Given the description of an element on the screen output the (x, y) to click on. 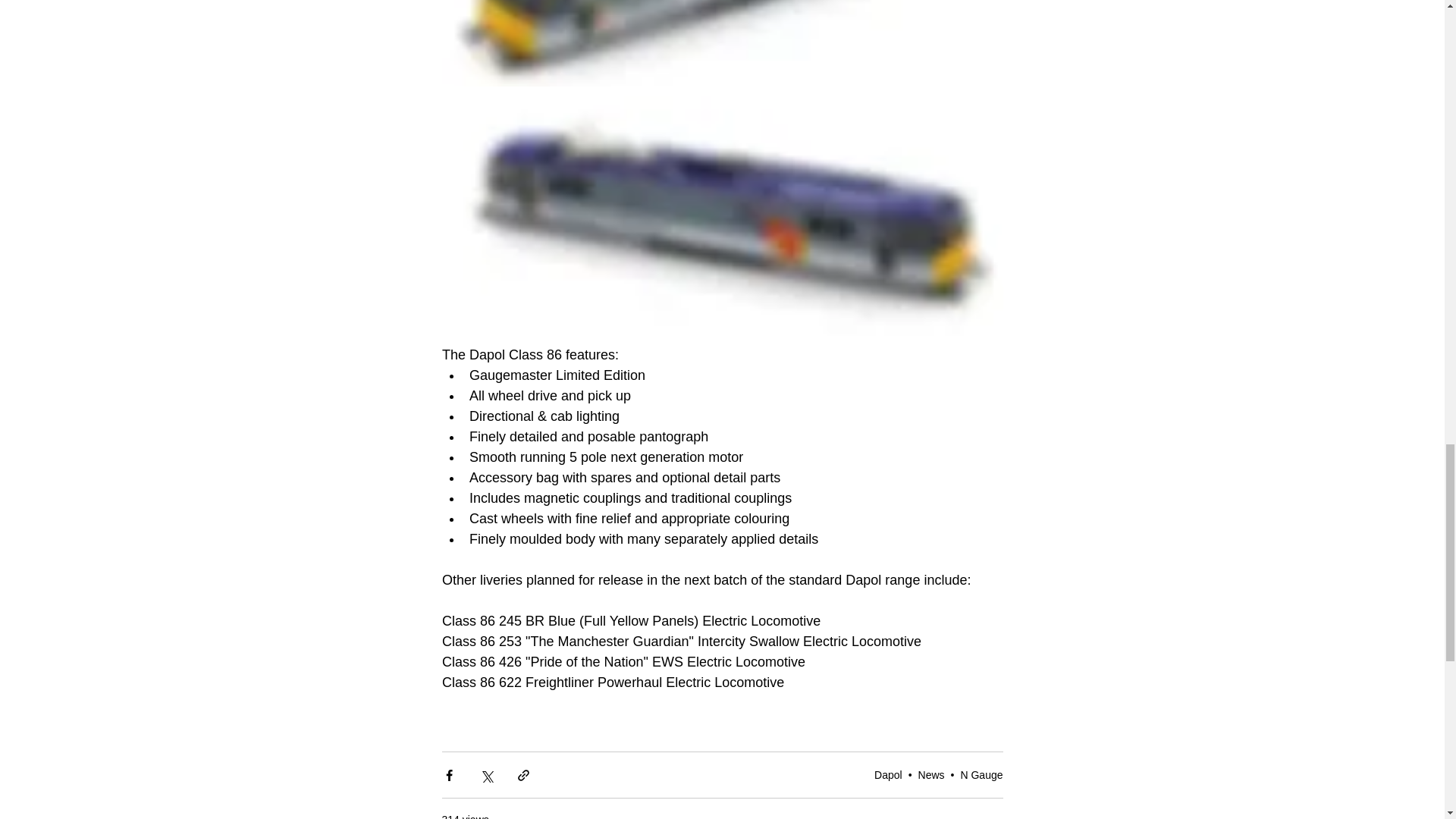
Dapol (888, 775)
N Gauge (981, 775)
News (931, 775)
